Given the description of an element on the screen output the (x, y) to click on. 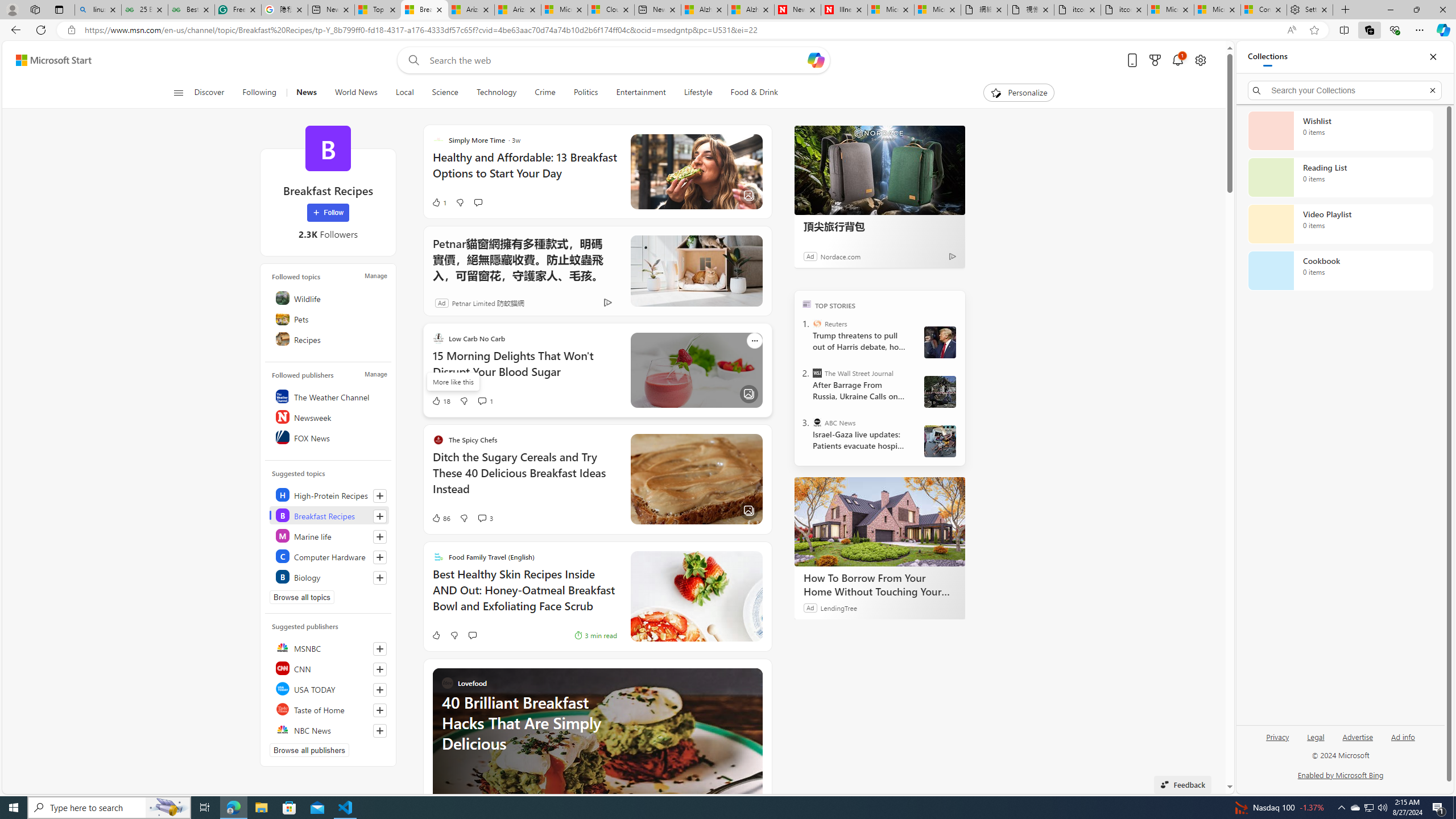
Consumer Health Data Privacy Policy (1263, 9)
Class: highlight selected (328, 515)
Privacy (1278, 736)
LendingTree (838, 607)
Ad (440, 302)
Lifestyle (697, 92)
New tab (656, 9)
Reuters (816, 323)
The Wall Street Journal (816, 372)
News (306, 92)
Newsweek (328, 416)
